Given the description of an element on the screen output the (x, y) to click on. 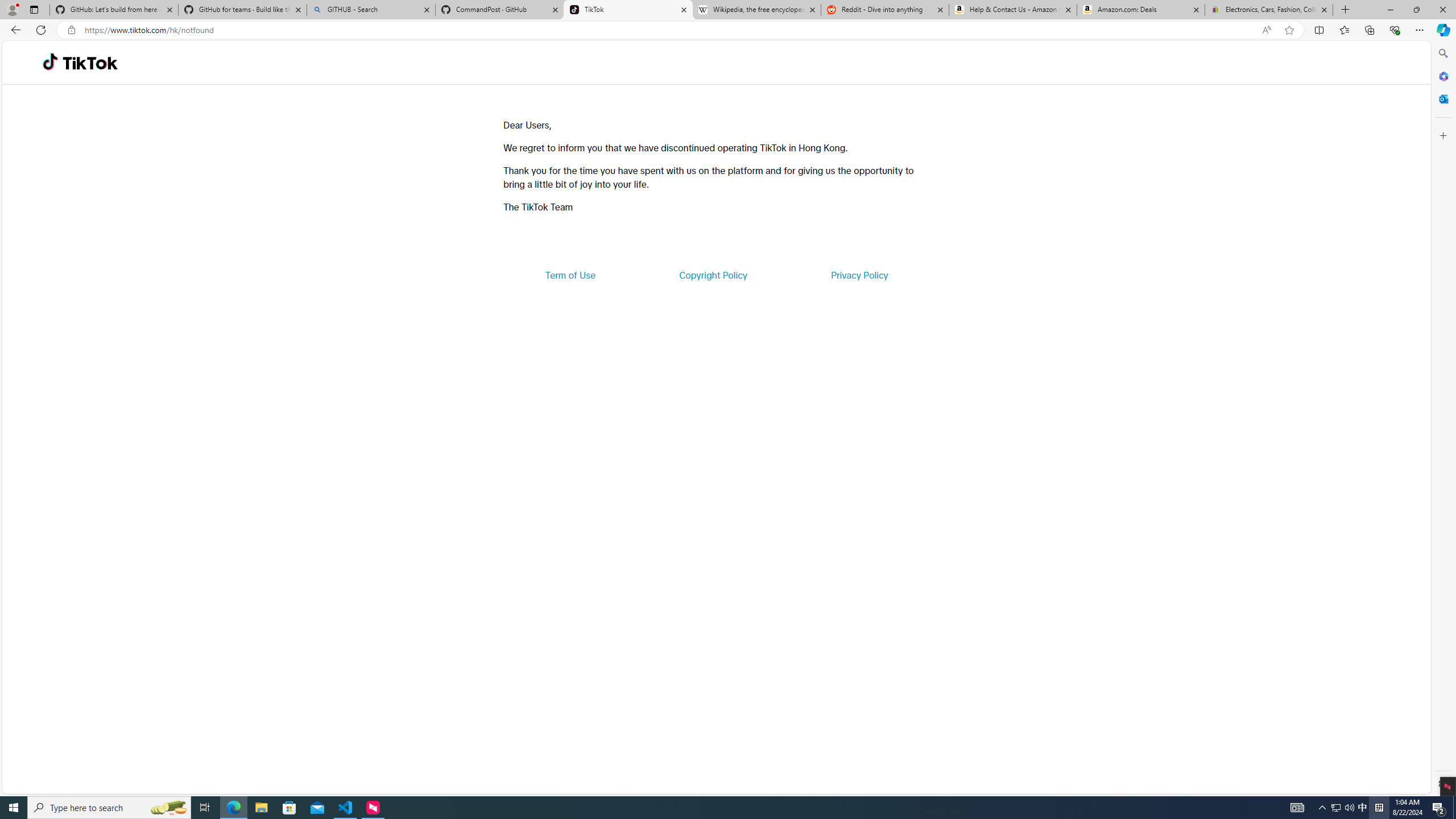
Reddit - Dive into anything (884, 9)
Privacy Policy (858, 274)
Copyright Policy (712, 274)
